Given the description of an element on the screen output the (x, y) to click on. 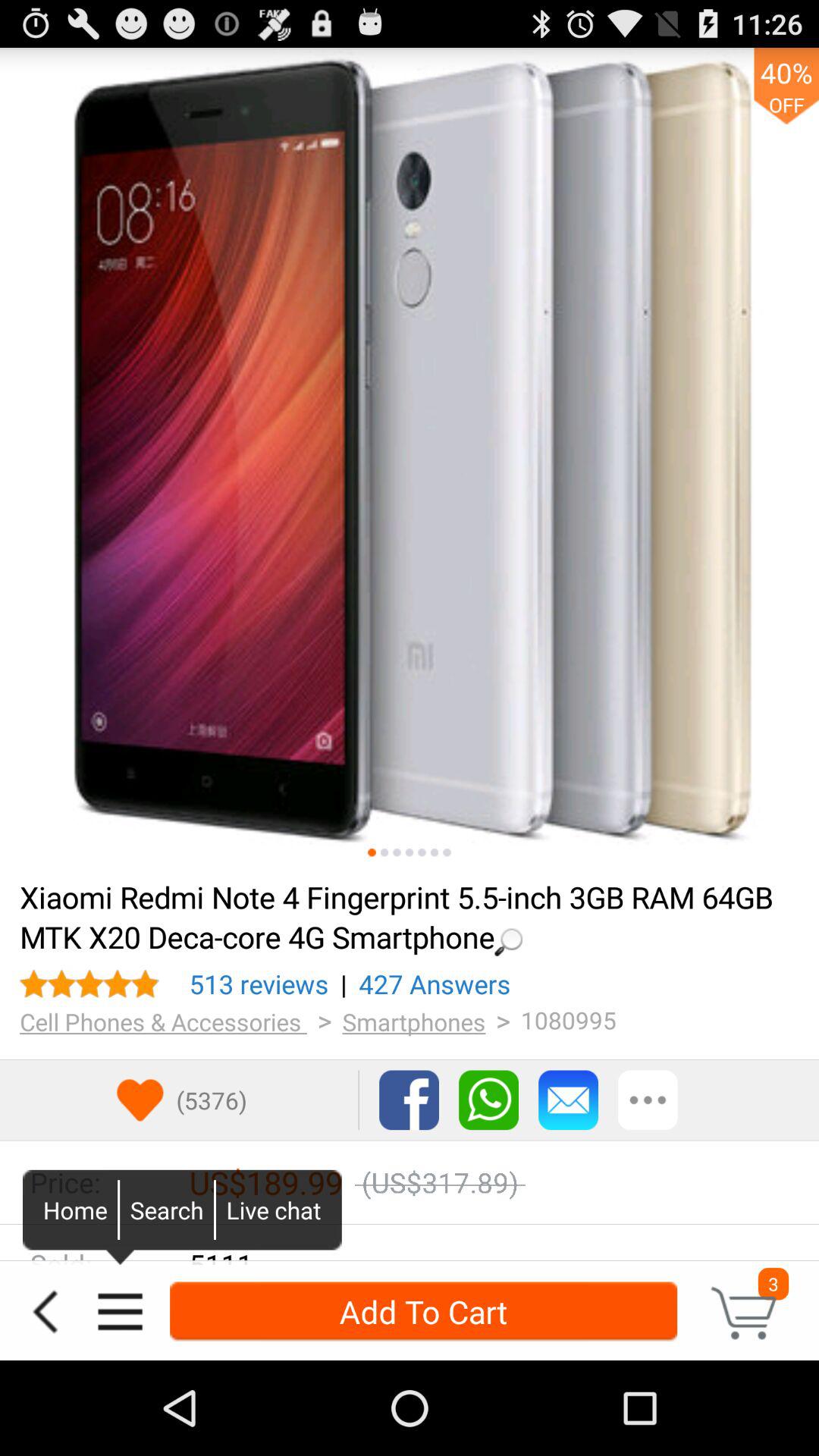
select add to cart button which is at the bottom of the page (423, 1311)
go to right of mail (648, 1099)
select the caret left arrow which is to the left side of three horizontal bar (45, 1311)
